Given the description of an element on the screen output the (x, y) to click on. 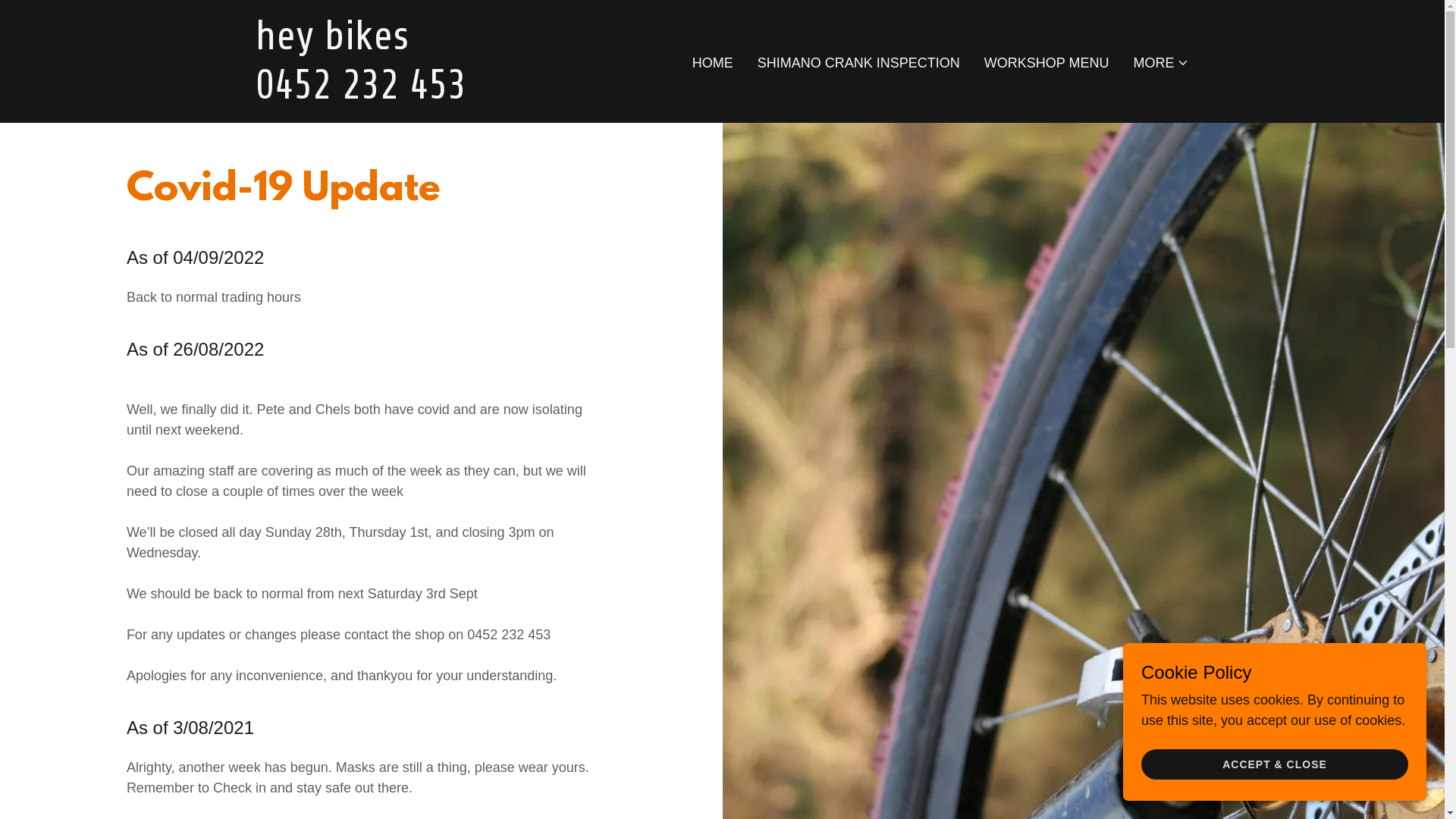
hey bikes
0452 232 453 Element type: text (417, 93)
HOME Element type: text (712, 62)
ACCEPT & CLOSE Element type: text (1274, 764)
WORKSHOP MENU Element type: text (1046, 62)
SHIMANO CRANK INSPECTION Element type: text (858, 62)
MORE Element type: text (1160, 62)
